Given the description of an element on the screen output the (x, y) to click on. 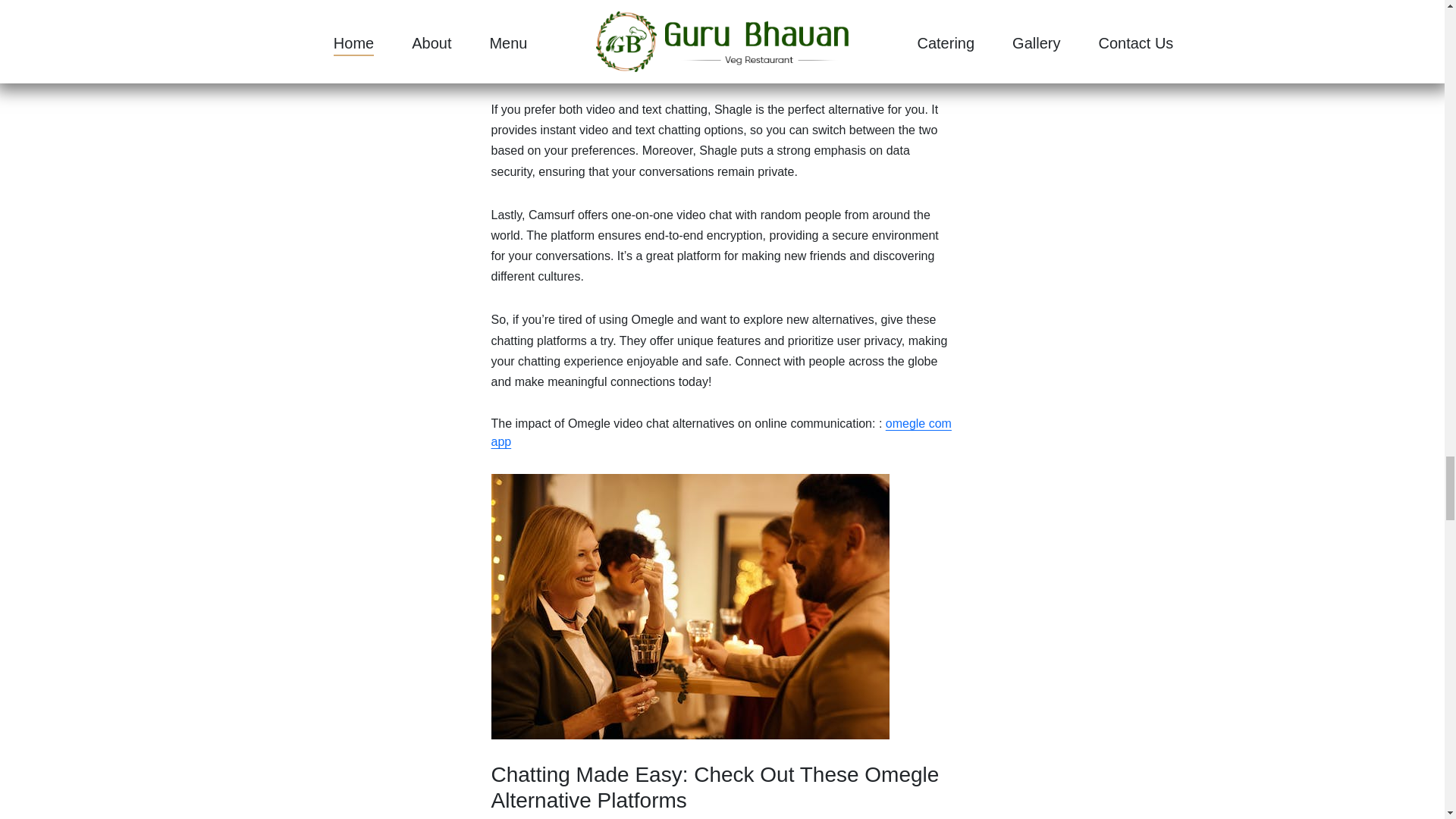
omegle com app (722, 431)
